Given the description of an element on the screen output the (x, y) to click on. 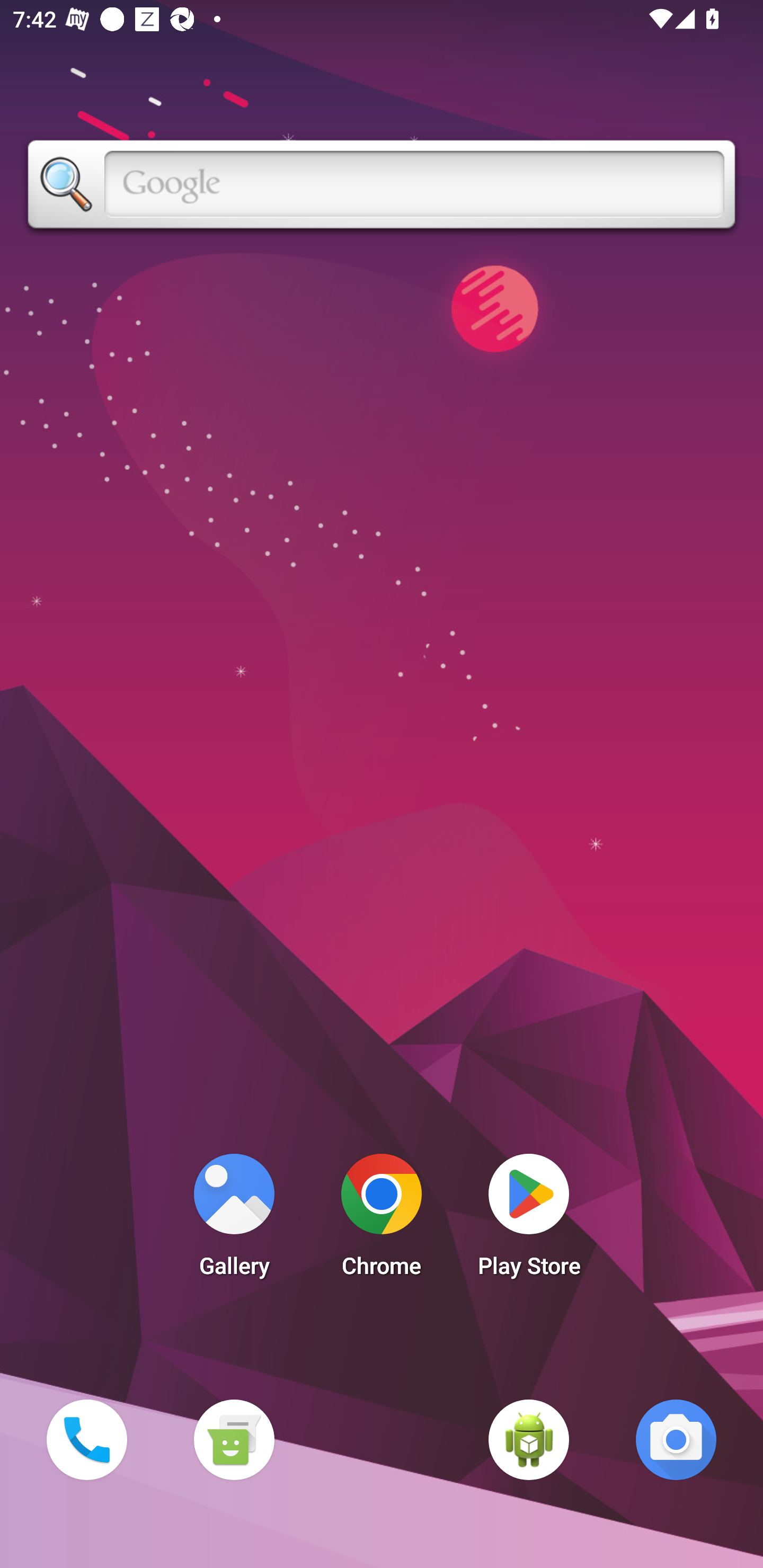
Gallery (233, 1220)
Chrome (381, 1220)
Play Store (528, 1220)
Phone (86, 1439)
Messaging (233, 1439)
WebView Browser Tester (528, 1439)
Camera (676, 1439)
